Given the description of an element on the screen output the (x, y) to click on. 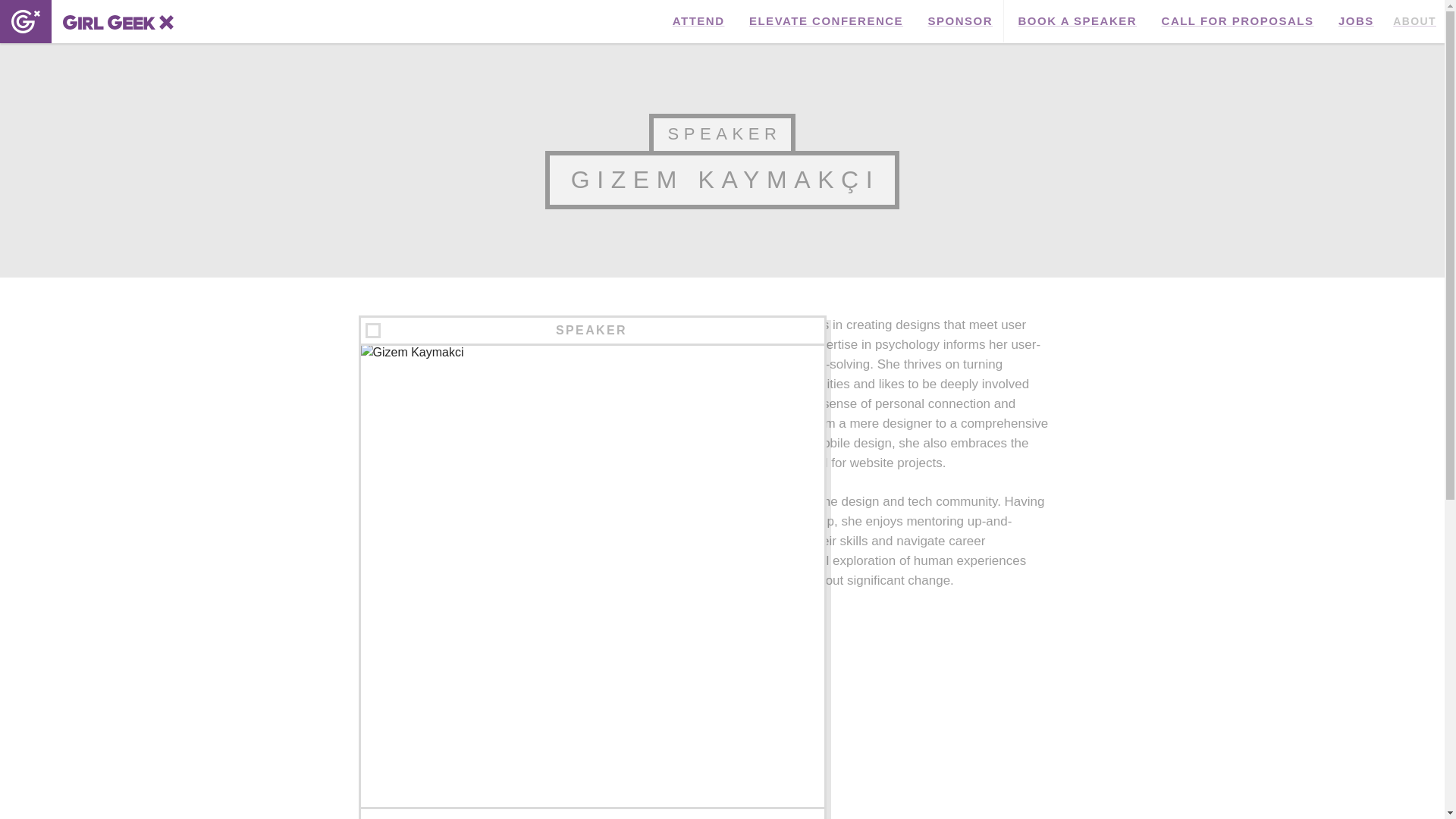
SPONSOR (960, 21)
JOBS (1355, 21)
ATTEND (698, 21)
CALL FOR PROPOSALS (1237, 21)
ELEVATE CONFERENCE (826, 21)
BOOK A SPEAKER (1077, 21)
